Given the description of an element on the screen output the (x, y) to click on. 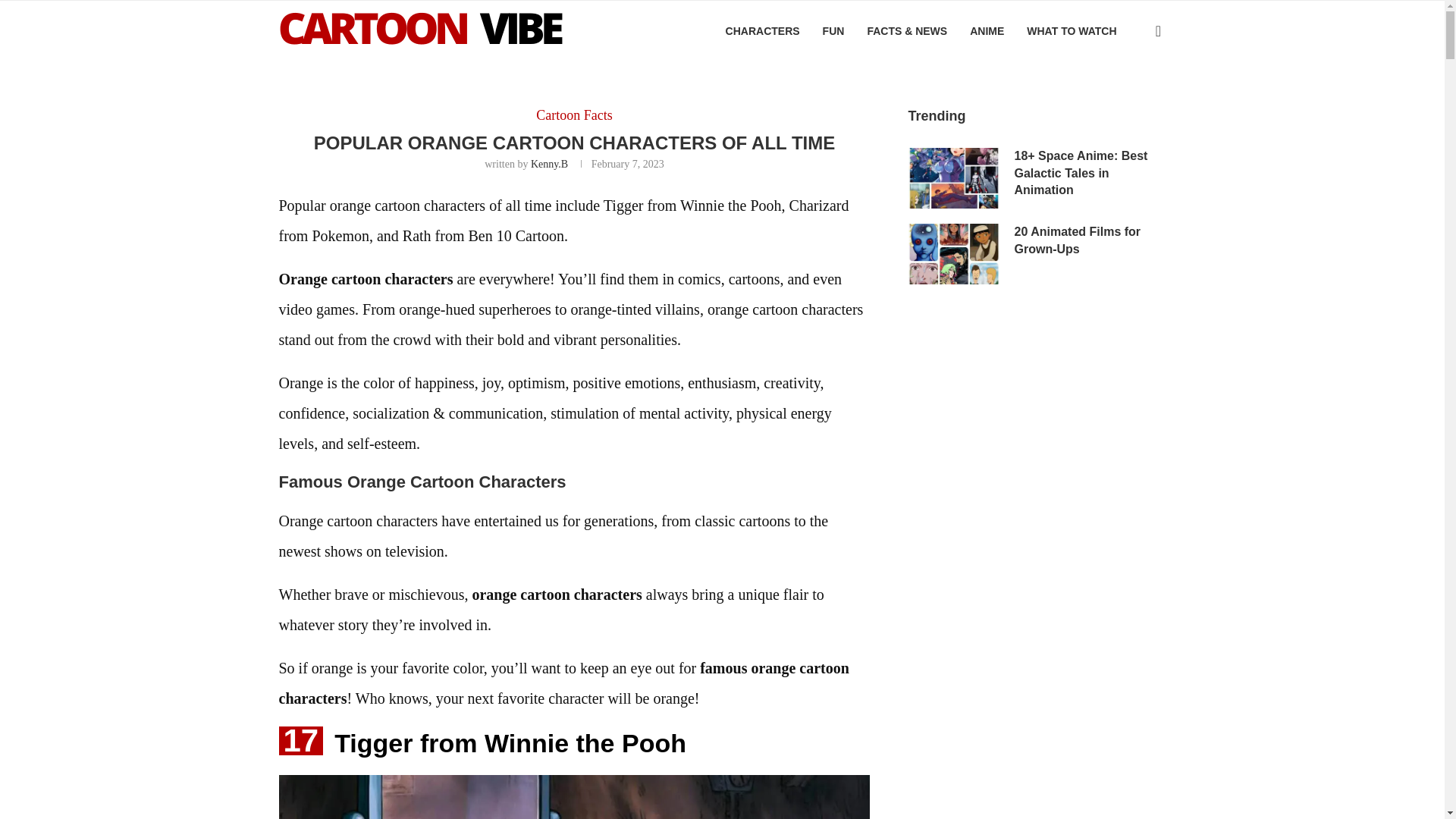
20 Animated Films for Grown-Ups (1090, 240)
CHARACTERS (762, 30)
Kenny.B (549, 163)
20 Animated Films for Grown-Ups (953, 253)
Cartoon Facts (573, 115)
WHAT TO WATCH (1071, 30)
